Given the description of an element on the screen output the (x, y) to click on. 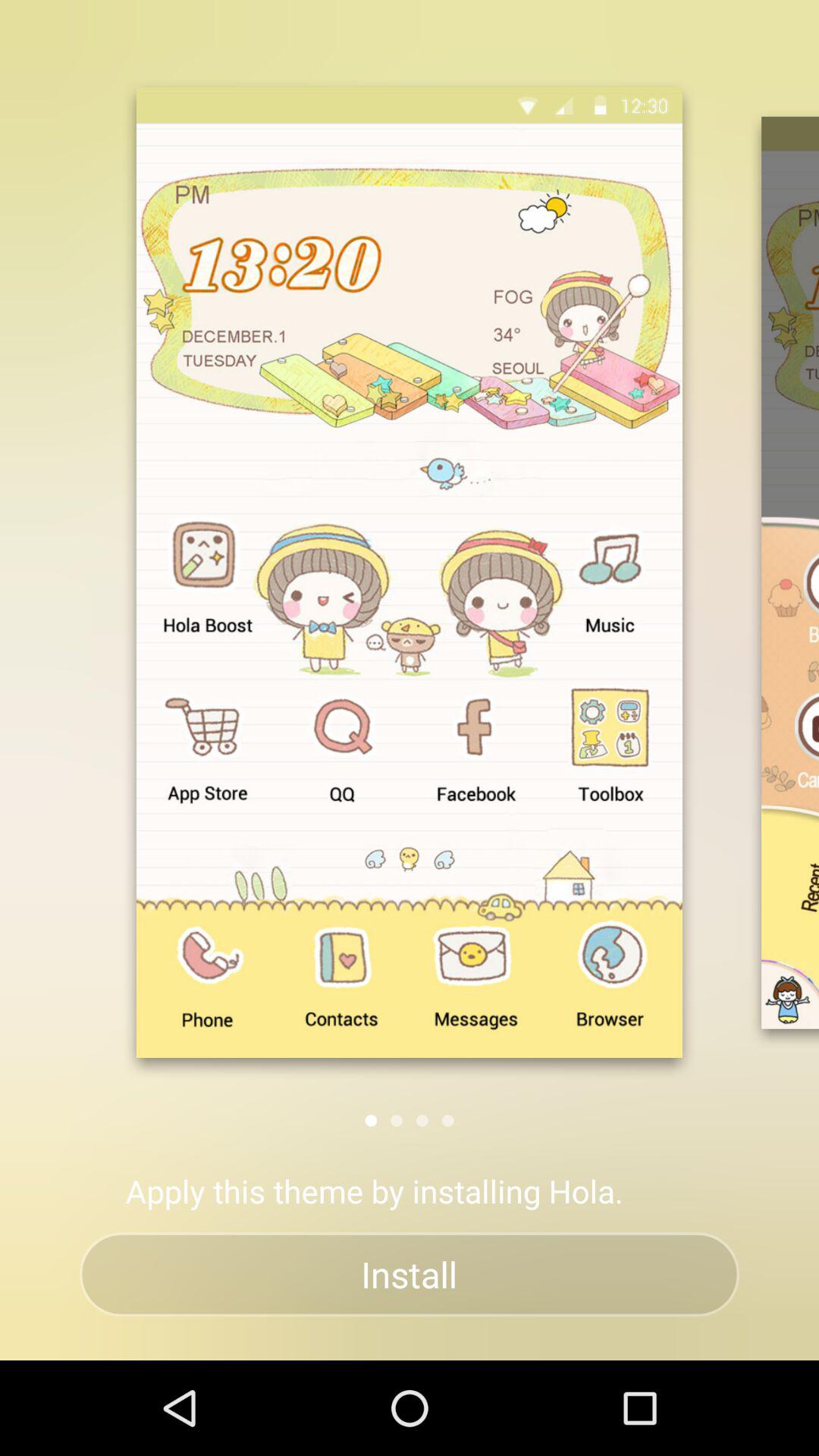
choose app above apply this theme app (422, 1120)
